Given the description of an element on the screen output the (x, y) to click on. 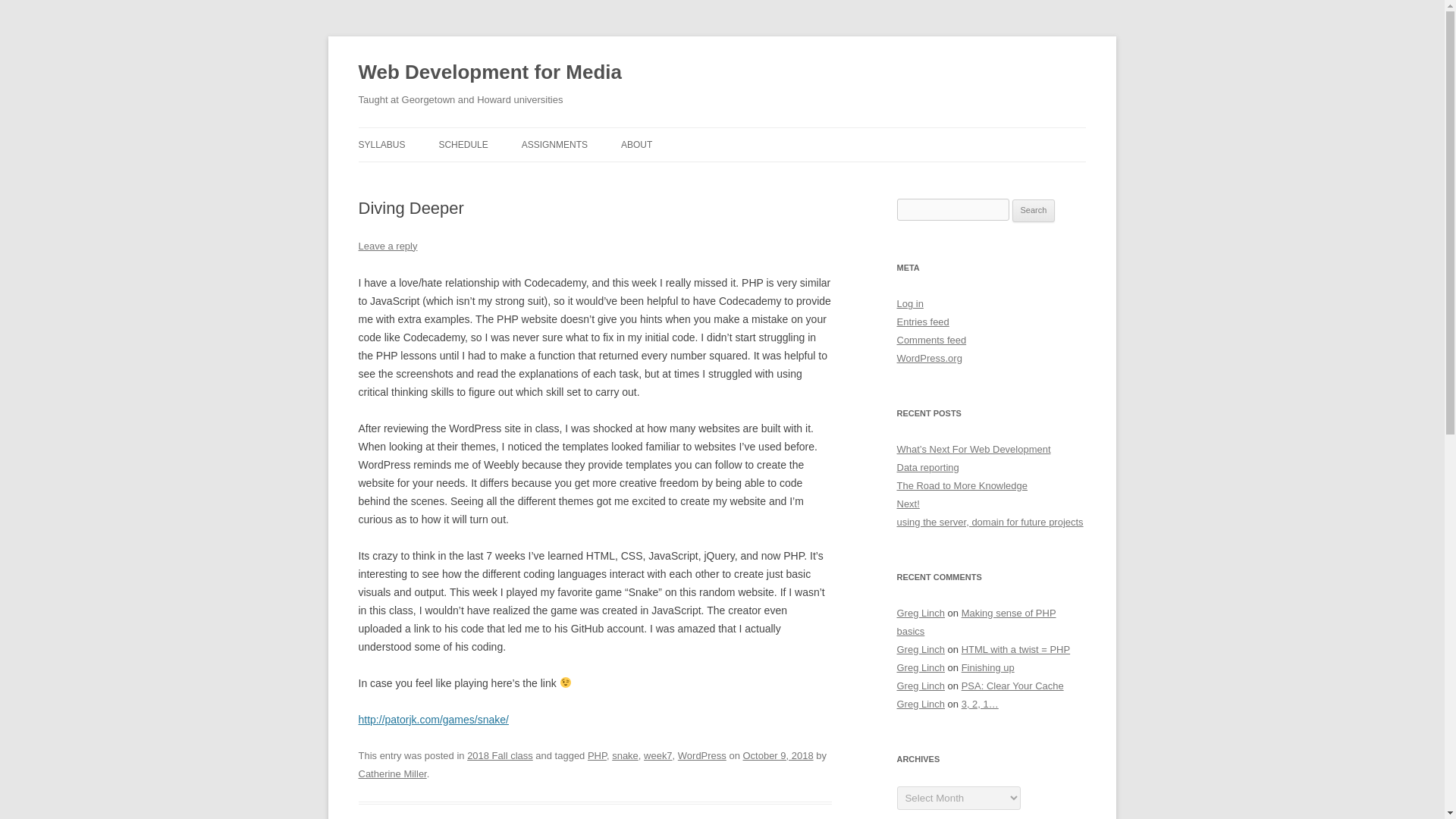
Greg Linch (920, 704)
Data reporting (927, 467)
week7 (657, 755)
Leave a reply (387, 245)
Greg Linch (920, 685)
snake (625, 755)
Search (1033, 210)
Finishing up (987, 667)
The Road to More Knowledge (961, 485)
2018 Fall class (499, 755)
